Given the description of an element on the screen output the (x, y) to click on. 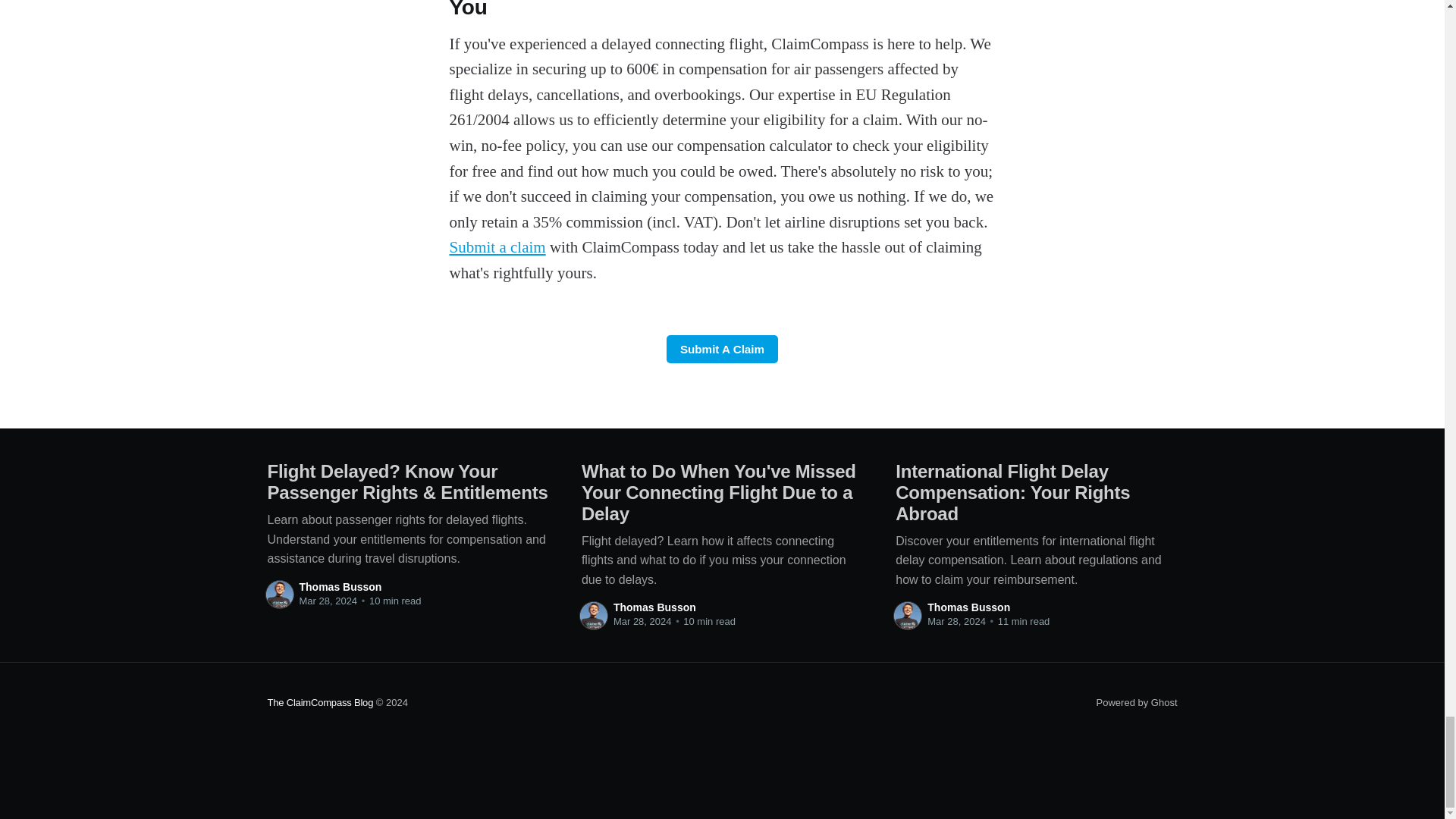
The ClaimCompass Blog (319, 702)
Powered by Ghost (1136, 702)
Thomas Busson (968, 607)
Submit A Claim (722, 348)
Submit a claim (496, 247)
Thomas Busson (339, 586)
Thomas Busson (653, 607)
